Given the description of an element on the screen output the (x, y) to click on. 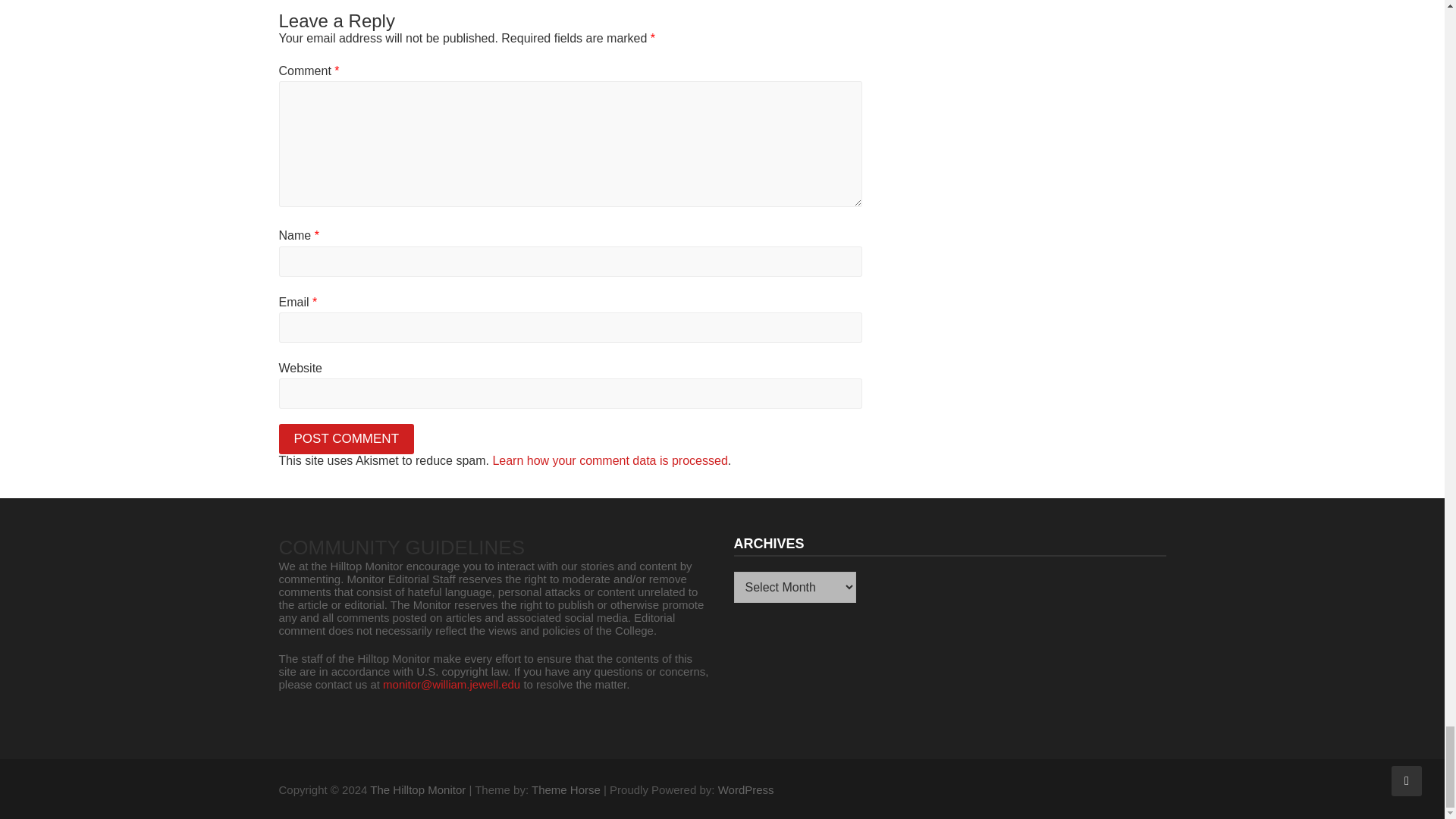
Theme Horse (565, 789)
The Hilltop Monitor (417, 789)
Post Comment (346, 439)
WordPress (745, 789)
